Given the description of an element on the screen output the (x, y) to click on. 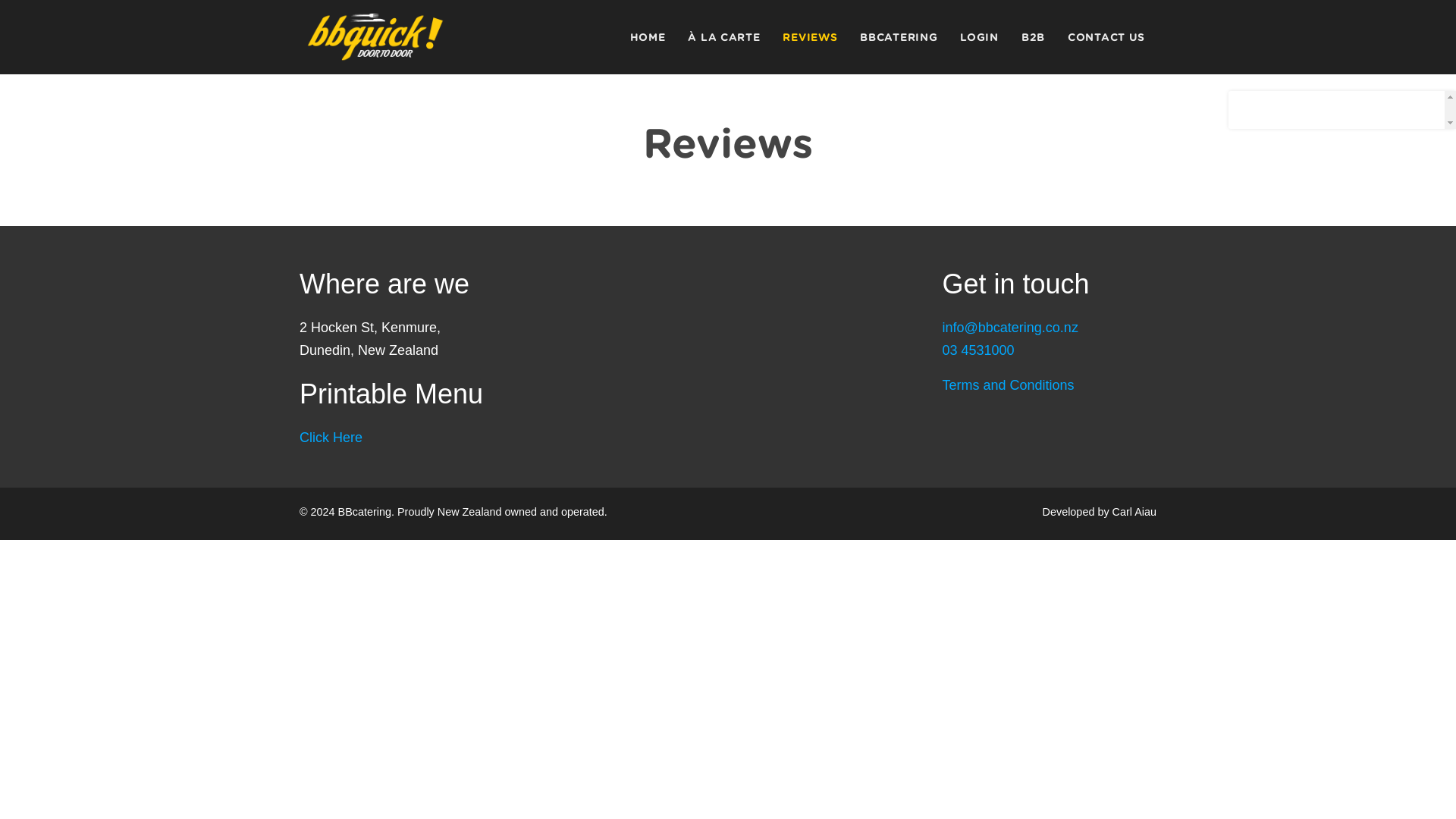
Click Here (330, 437)
CONTACT US (1106, 37)
BBCATERING (898, 37)
HOME (647, 37)
03 4531000 (977, 350)
Terms and Conditions (1008, 385)
REVIEWS (809, 37)
Carl Aiau (1134, 511)
B2B (1033, 37)
LOGIN (979, 37)
